Given the description of an element on the screen output the (x, y) to click on. 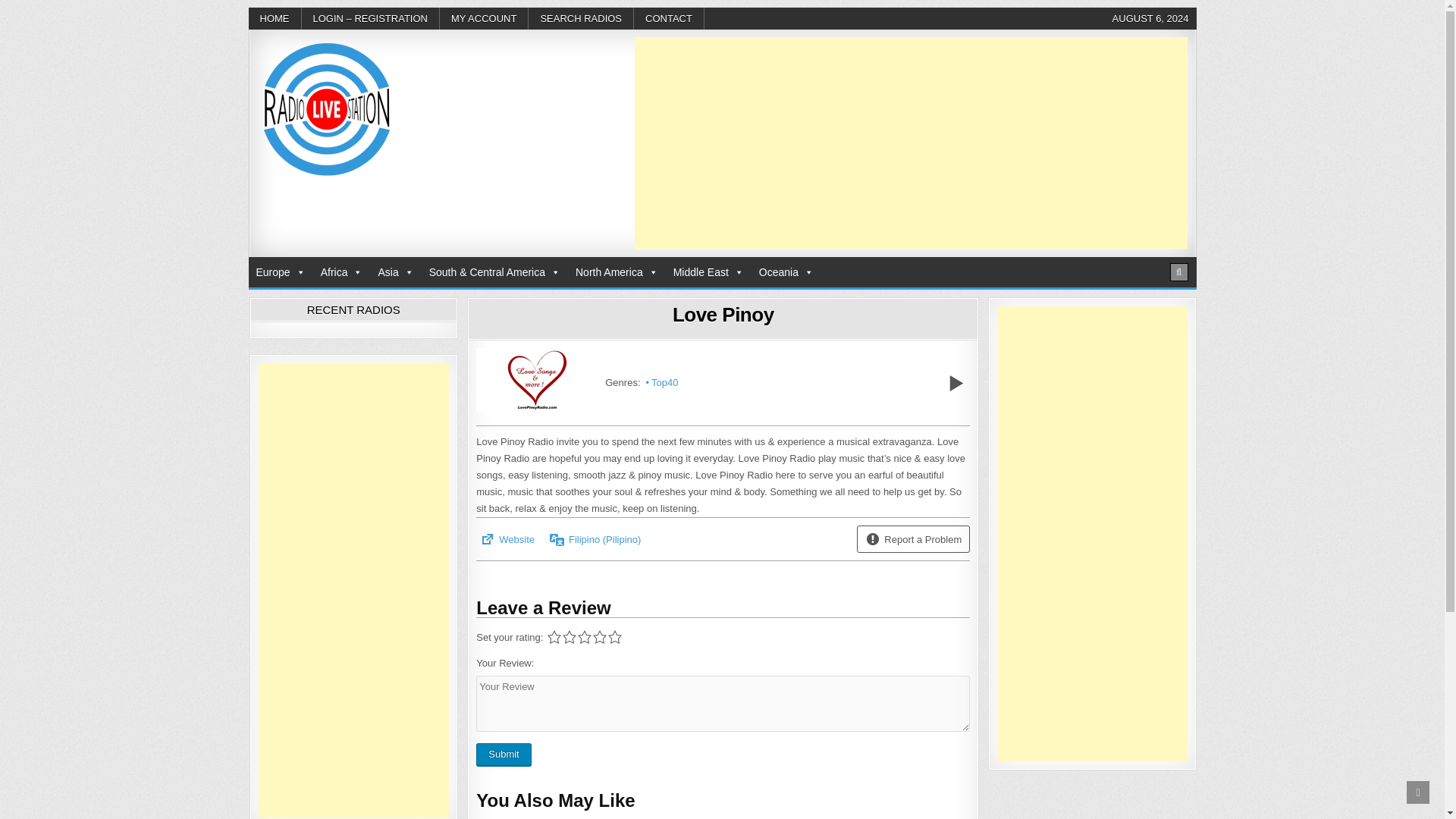
Play (956, 382)
MY ACCOUNT (483, 18)
Advertisement (910, 142)
Search (1178, 271)
CONTACT (668, 18)
HOME (274, 18)
SEARCH RADIOS (580, 18)
Europe (280, 272)
Not working? Report a problem. (872, 539)
